Given the description of an element on the screen output the (x, y) to click on. 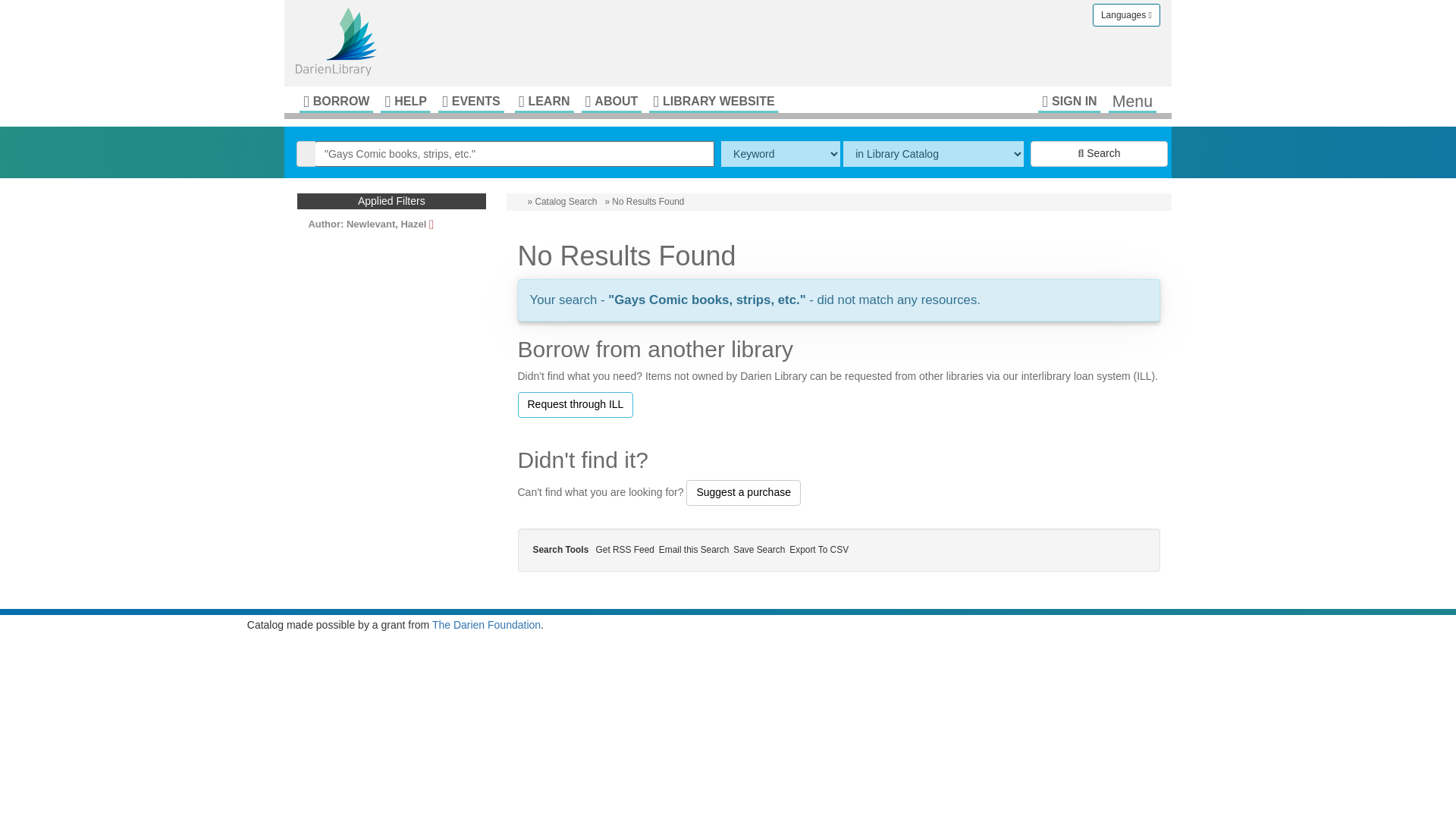
Suggest a purchase (742, 492)
HELP (404, 99)
Save Search (761, 549)
The method of searching. (780, 153)
Request through ILL (574, 404)
BORROW (335, 99)
LIBRARY WEBSITE (713, 99)
"Gays Comic books, strips, etc." (514, 153)
Login (1069, 99)
Show Menu (1132, 99)
